Given the description of an element on the screen output the (x, y) to click on. 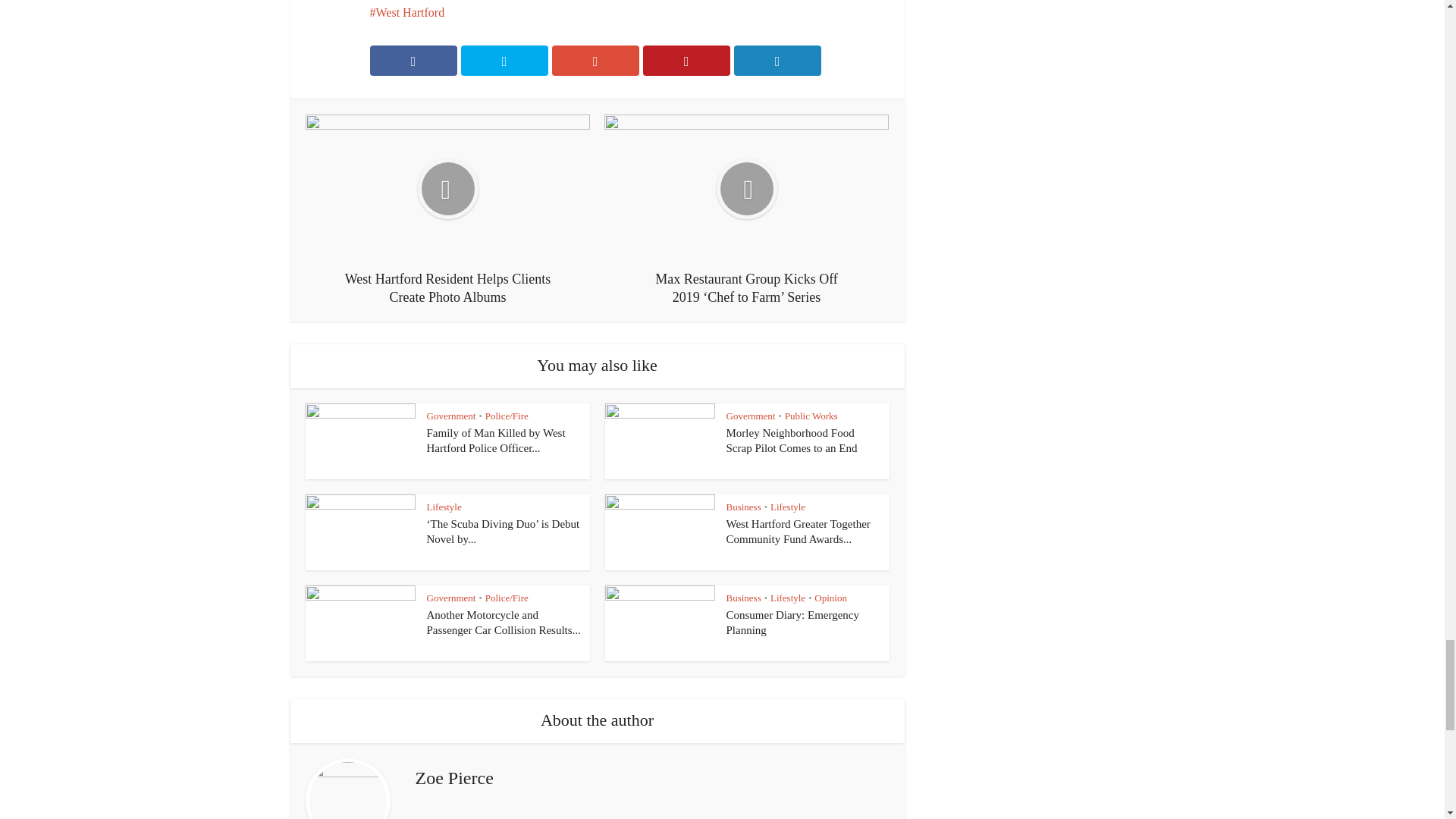
Consumer Diary: Emergency Planning (793, 622)
Morley Neighborhood Food Scrap Pilot Comes to an End (791, 440)
